Given the description of an element on the screen output the (x, y) to click on. 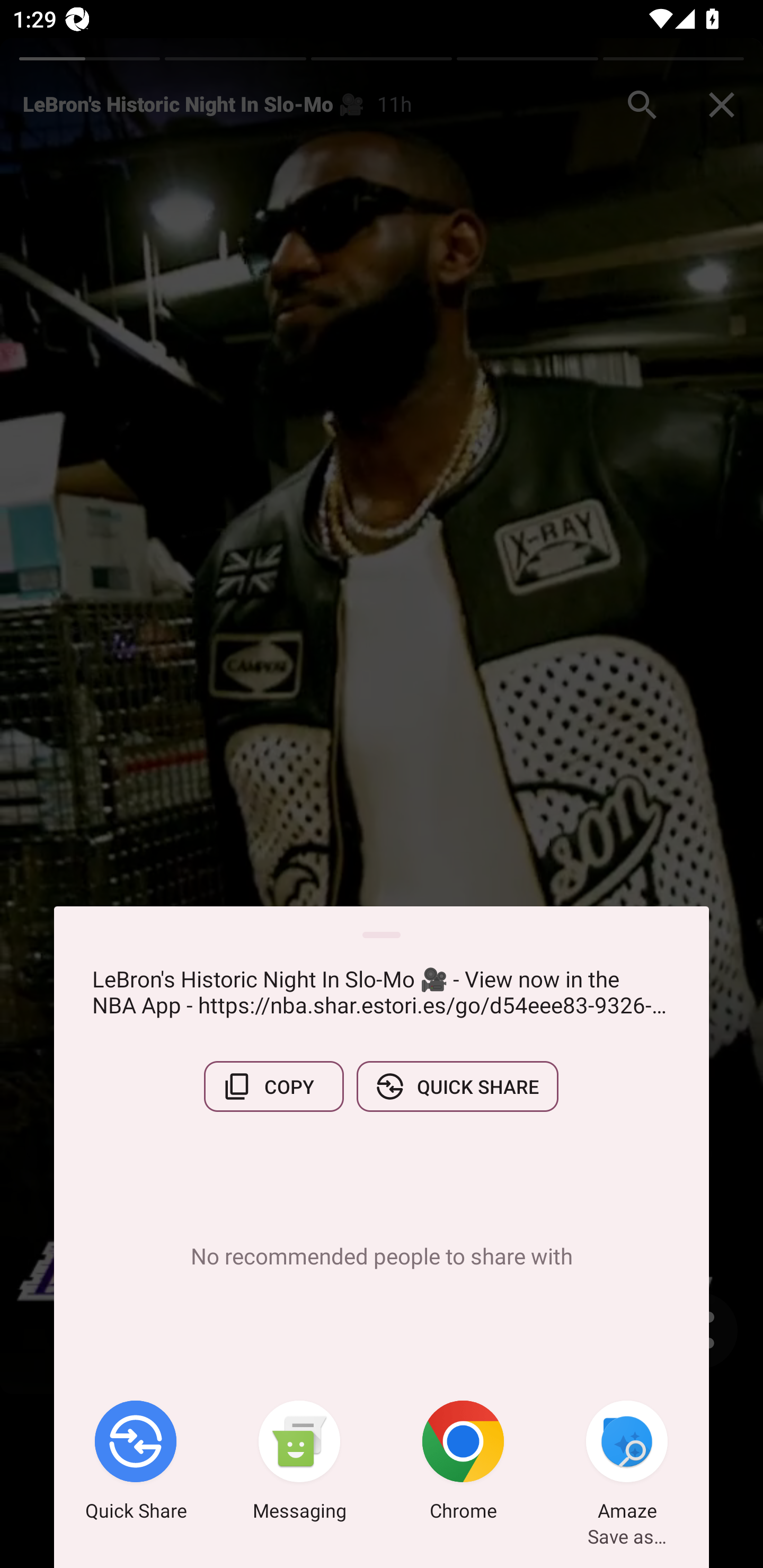
COPY (273, 1086)
QUICK SHARE (457, 1086)
Quick Share (135, 1463)
Messaging (299, 1463)
Chrome (463, 1463)
Amaze Save as… (626, 1463)
